Given the description of an element on the screen output the (x, y) to click on. 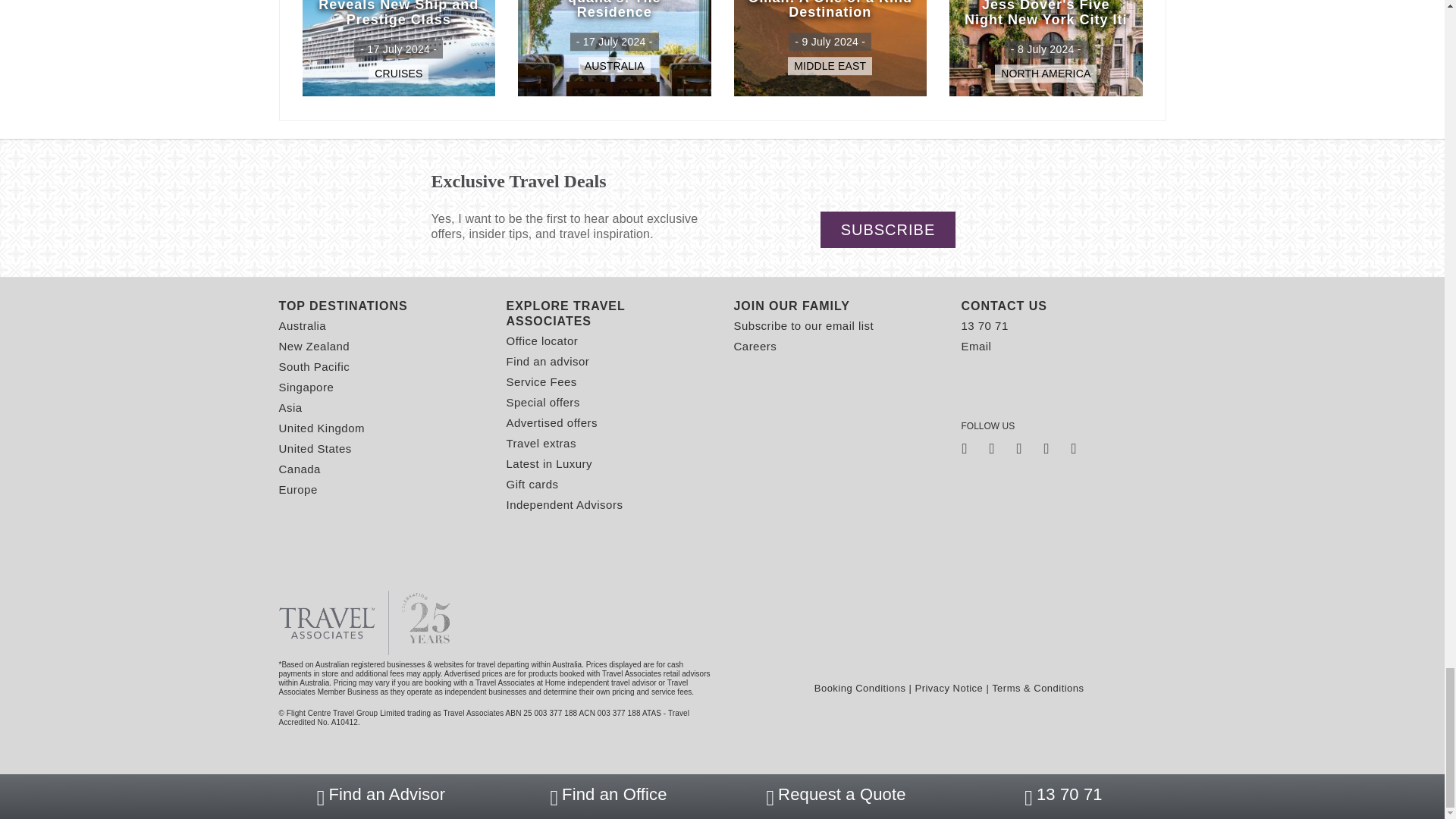
Top Destinations (381, 305)
twitter (996, 452)
facebook (968, 452)
Join our family (836, 305)
youtube (1078, 452)
Explore Travel Associates (608, 313)
linkedin (1050, 452)
instagram (1023, 452)
Contact Us (1063, 305)
